Given the description of an element on the screen output the (x, y) to click on. 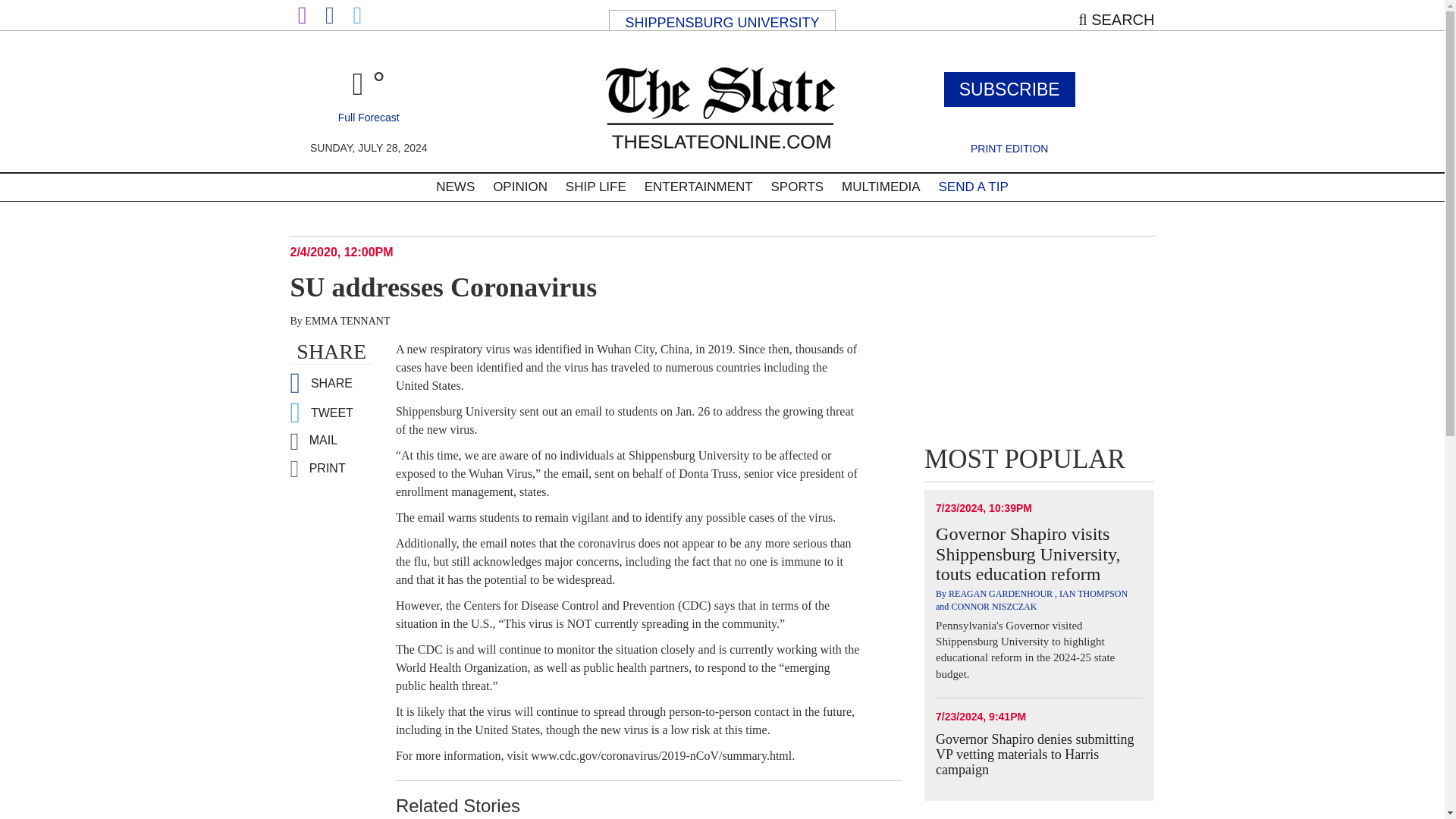
PRINT EDITION (1009, 148)
SHIP LIFE (595, 186)
SEND A TIP (972, 186)
SUBSCRIBE (1009, 89)
OPINION (519, 186)
SPORTS (796, 186)
SEARCH (1116, 20)
NEWS (454, 186)
MULTIMEDIA (881, 186)
Full Forecast (367, 117)
ENTERTAINMENT (698, 186)
